Given the description of an element on the screen output the (x, y) to click on. 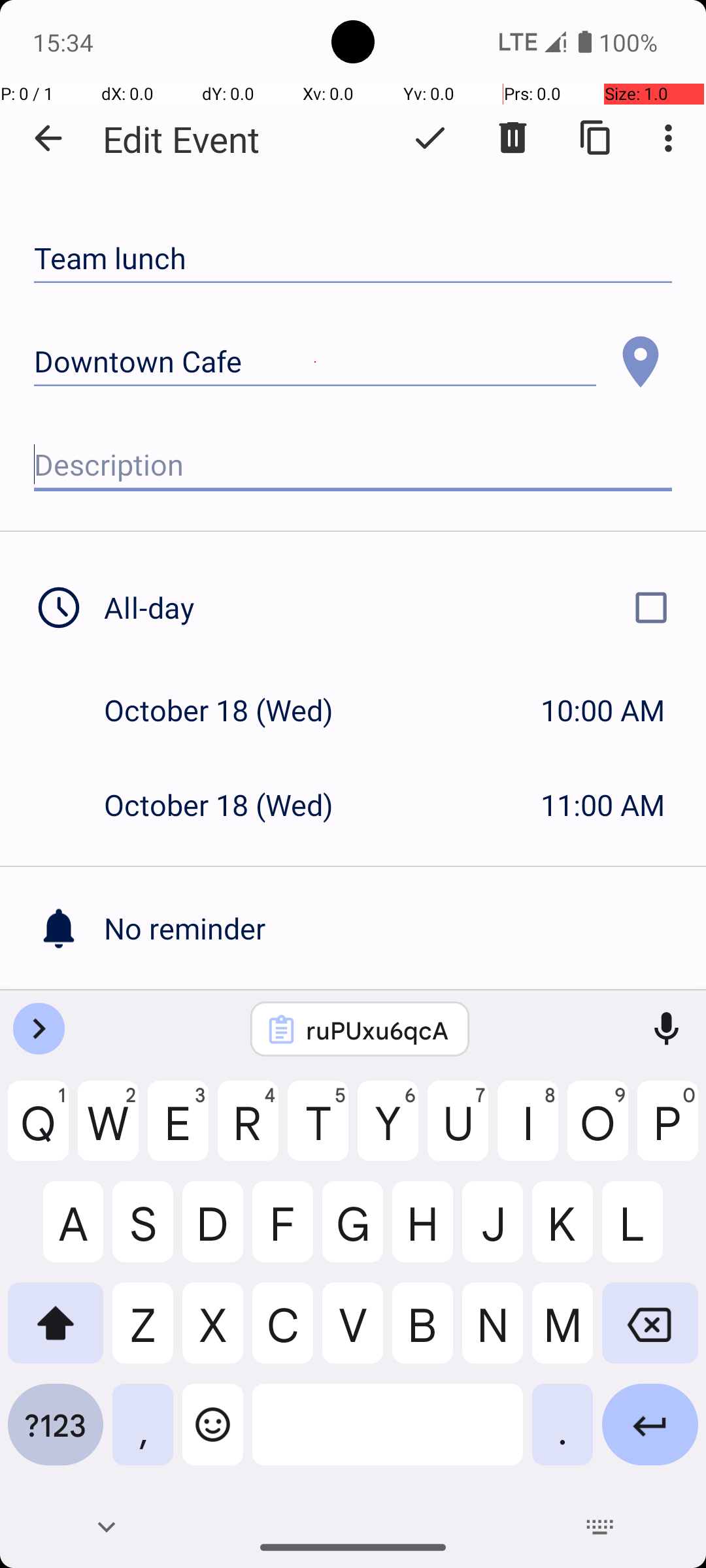
Team lunch Element type: android.widget.EditText (352, 258)
Downtown Cafe Element type: android.widget.EditText (314, 361)
October 18 (Wed) Element type: android.widget.TextView (232, 709)
10:00 AM Element type: android.widget.TextView (602, 709)
11:00 AM Element type: android.widget.TextView (602, 804)
ruPUxu6qcA Element type: android.widget.TextView (376, 1029)
